Given the description of an element on the screen output the (x, y) to click on. 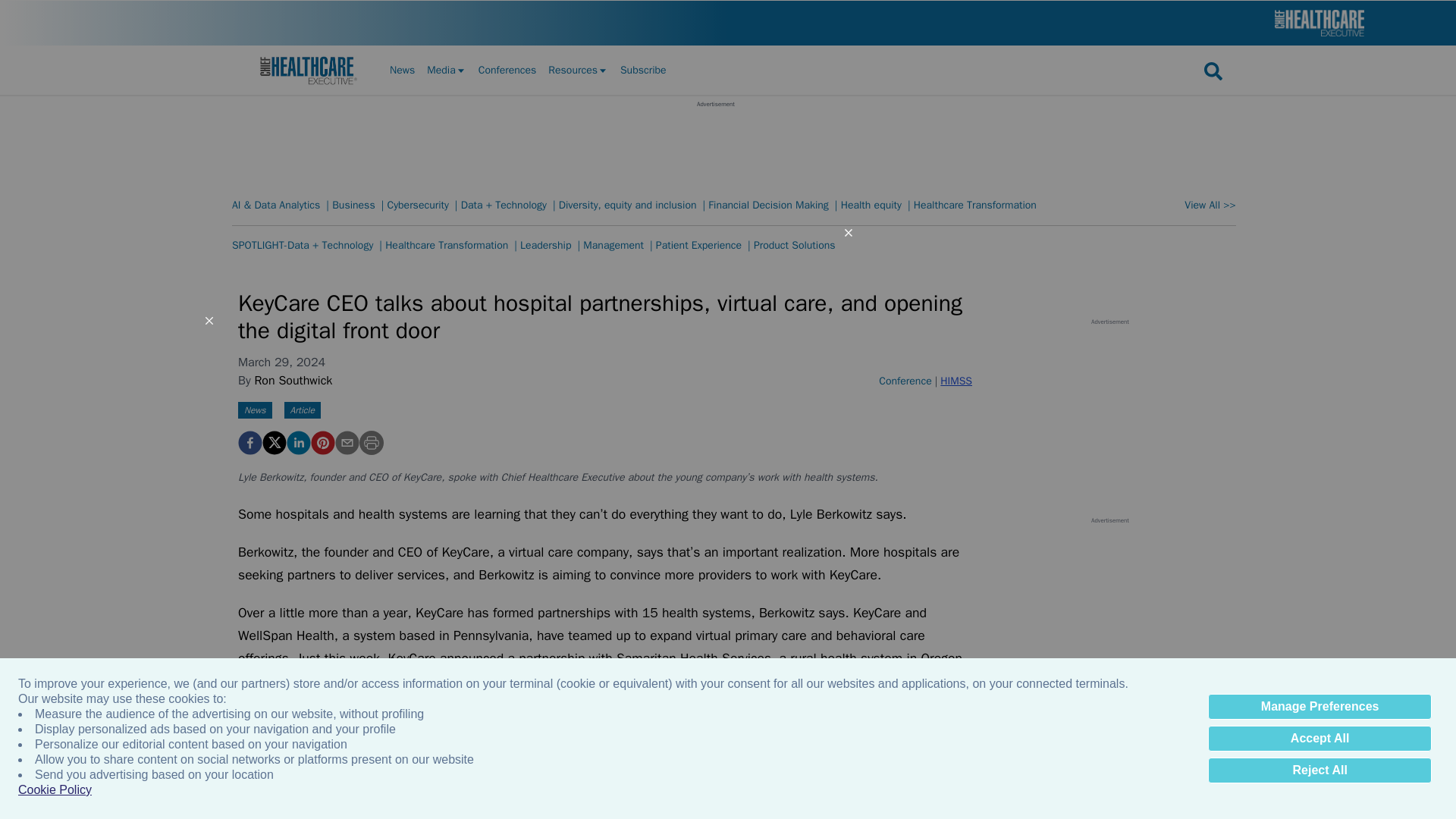
Accept All (1319, 738)
Conferences (508, 69)
Manage Preferences (1319, 706)
Cookie Policy (54, 789)
3rd party ad content (715, 142)
Subscribe (643, 69)
News (402, 69)
Reject All (1319, 769)
